Given the description of an element on the screen output the (x, y) to click on. 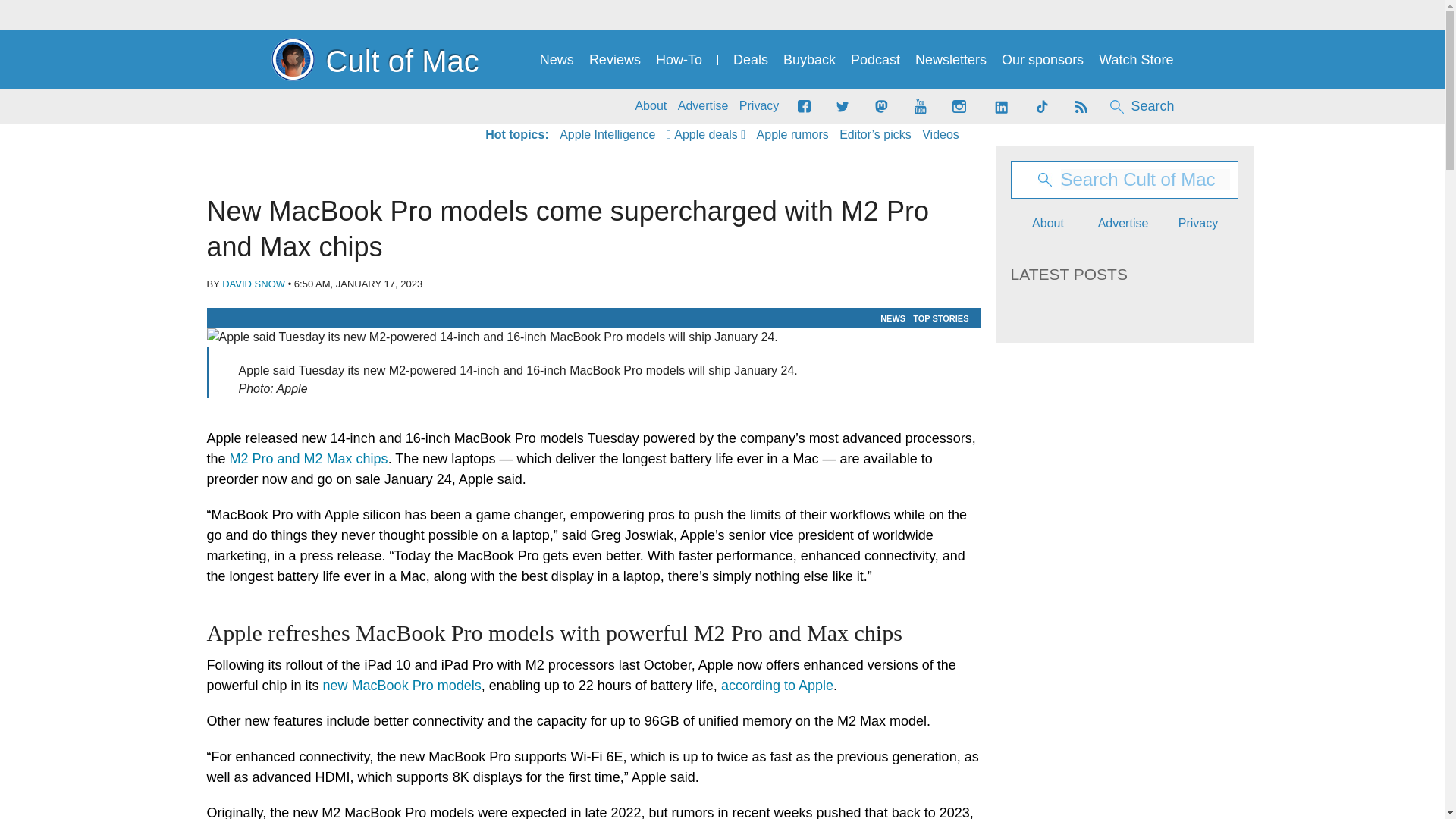
Apple Intelligence (607, 134)
Posts by David Snow (253, 283)
Privacy (758, 105)
Advertise (703, 105)
Our sponsors (1042, 59)
Deals (750, 59)
Apple rumors (792, 134)
Apple deals  (705, 134)
Apple legal battles (792, 134)
How-To (678, 59)
Cult of Mac (374, 59)
Watch Store (1135, 59)
Reviews (613, 59)
Apple Intelligence (607, 134)
